Given the description of an element on the screen output the (x, y) to click on. 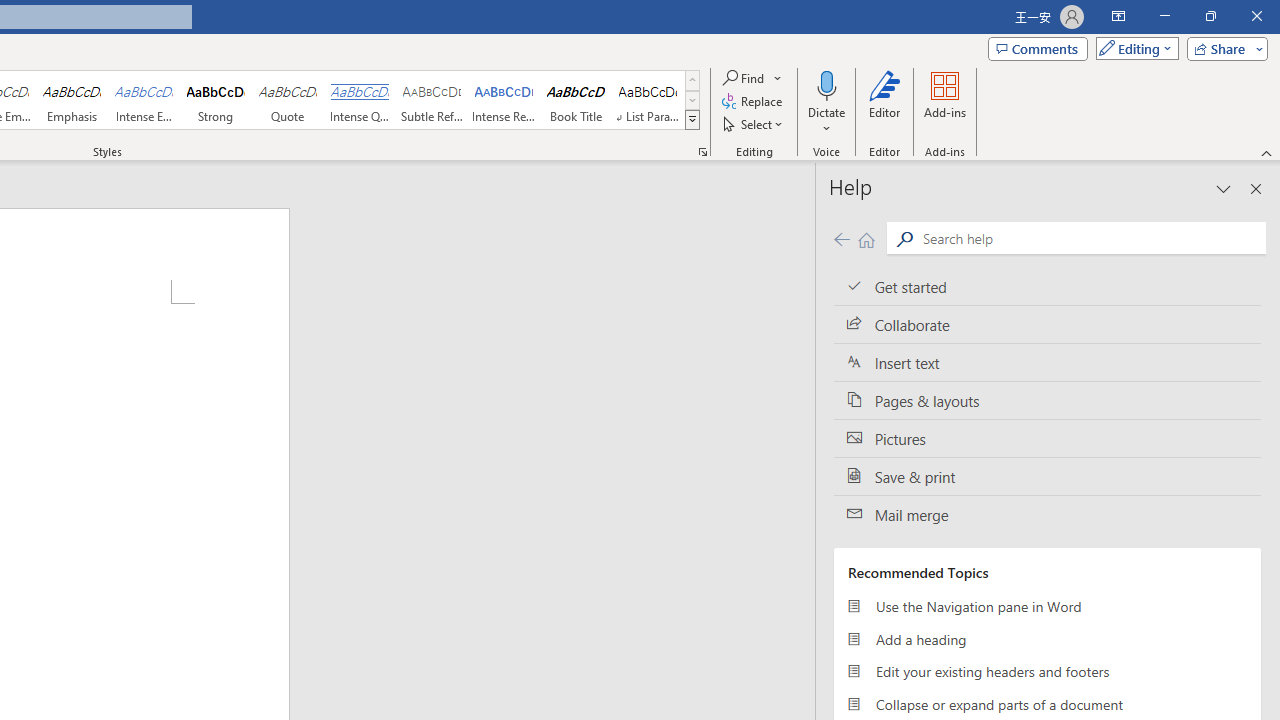
Search (904, 238)
Save & print (1047, 476)
Restore Down (1210, 16)
Get started (1047, 286)
